Given the description of an element on the screen output the (x, y) to click on. 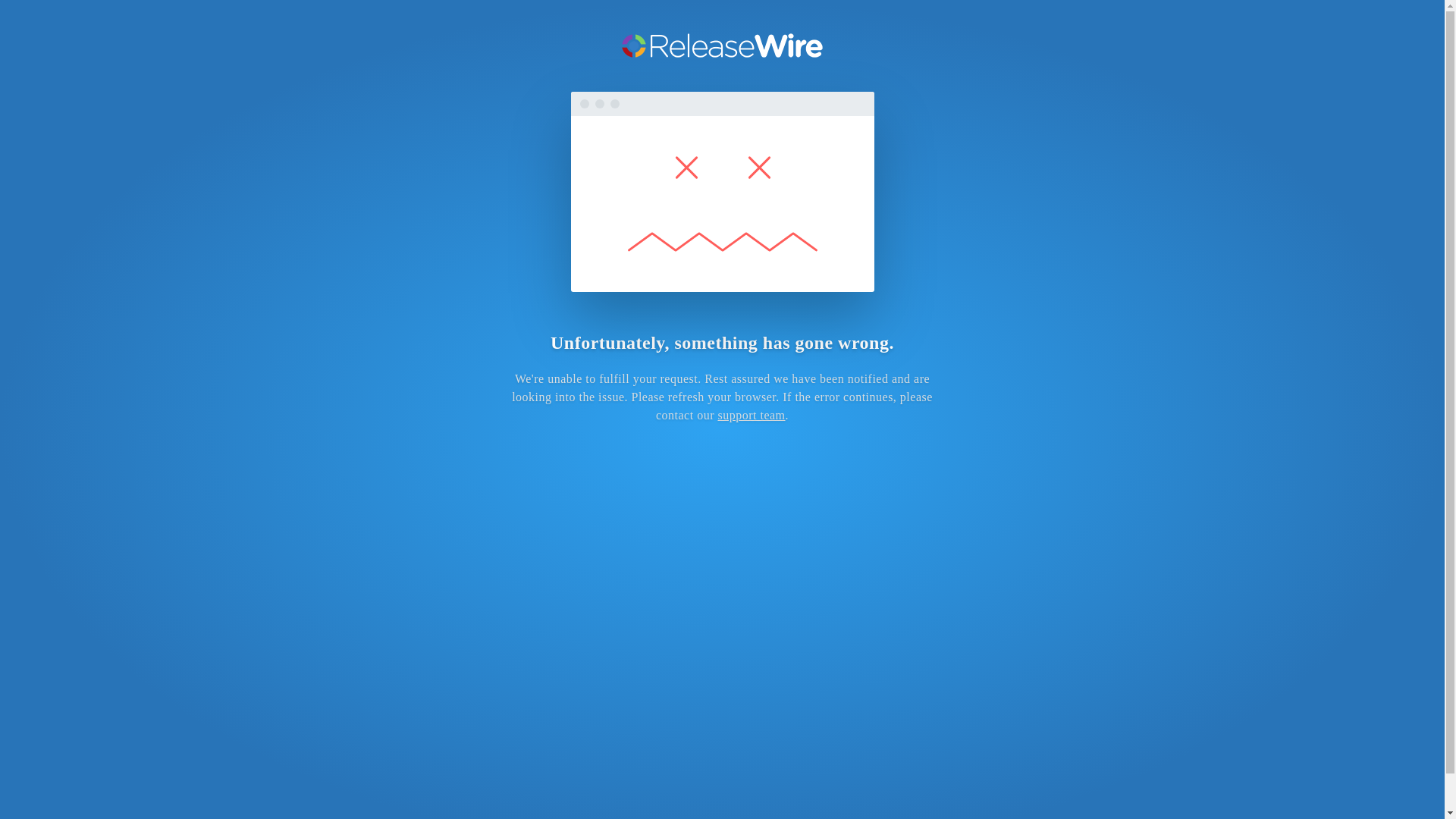
support team (750, 414)
